Given the description of an element on the screen output the (x, y) to click on. 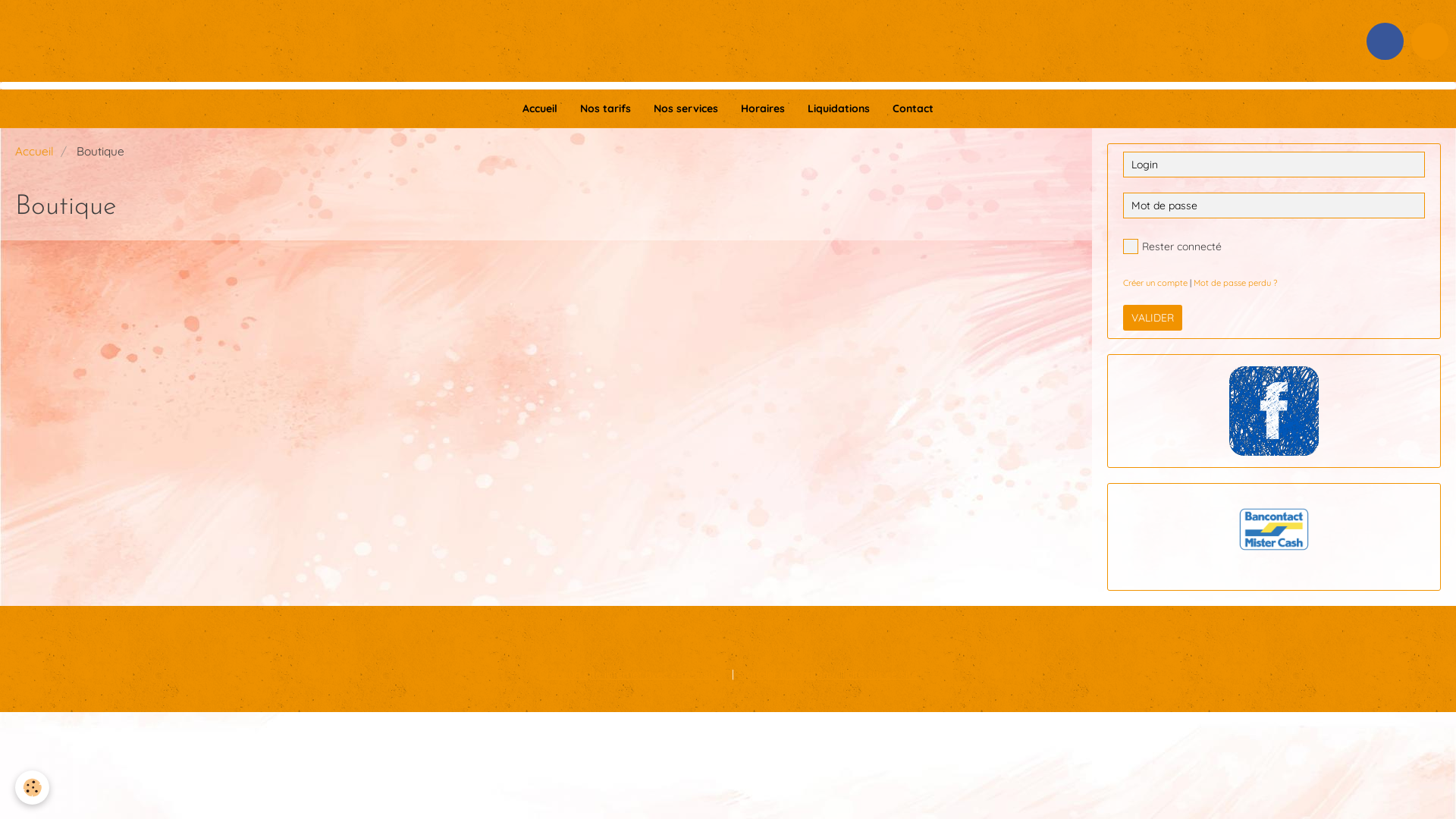
Liquidations Element type: text (838, 108)
Accueil Element type: text (34, 151)
Signaler un contenu illicite sur ce site Element type: text (826, 673)
Nos tarifs Element type: text (605, 108)
Accueil Element type: text (539, 108)
Mot de passe perdu ? Element type: text (1235, 282)
Horaires Element type: text (762, 108)
Nos services Element type: text (685, 108)
VALIDER Element type: text (1152, 317)
Contact Element type: text (912, 108)
